Given the description of an element on the screen output the (x, y) to click on. 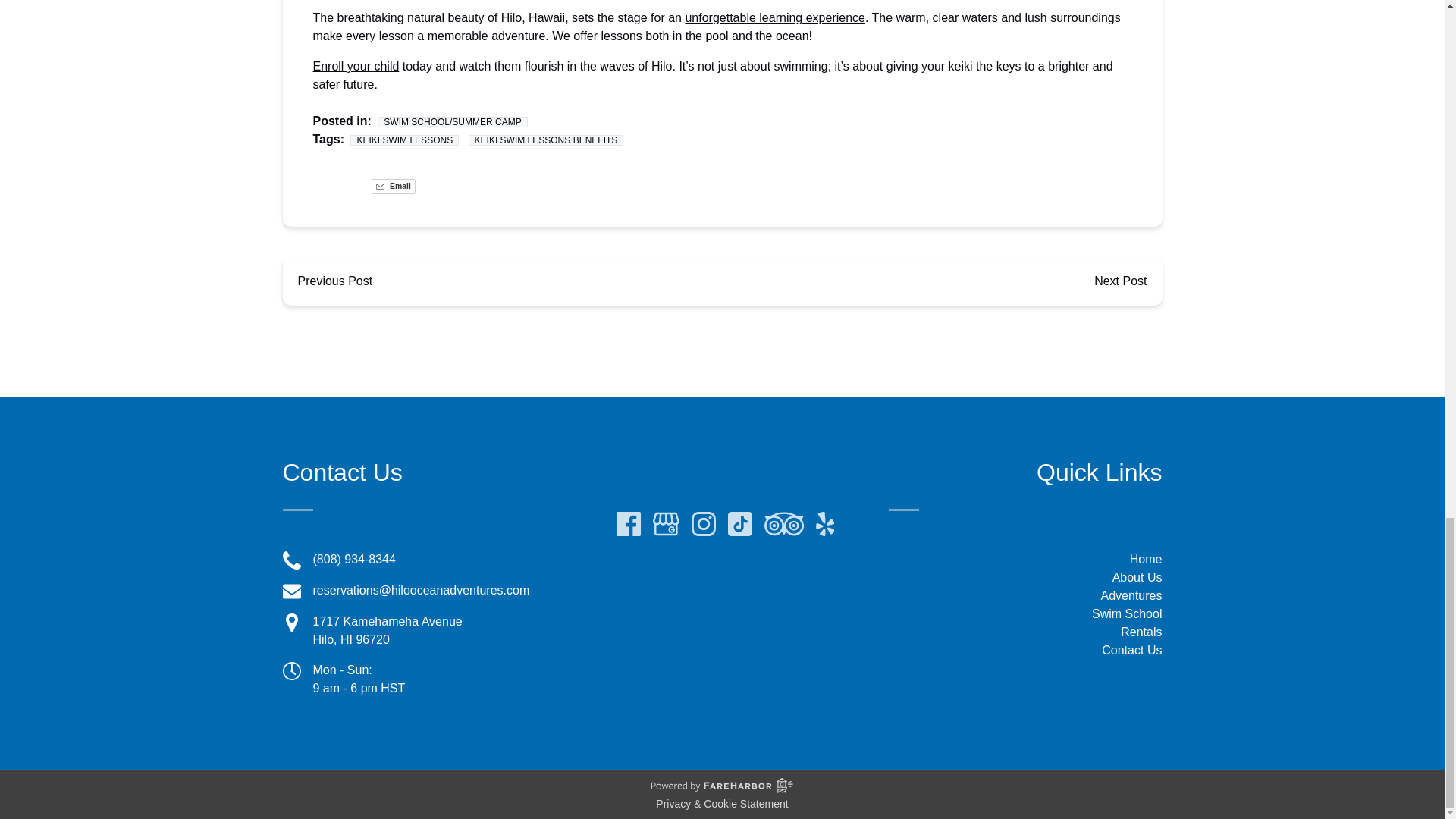
Map Marker (290, 622)
Phone (290, 560)
Envelope (290, 591)
Clock (290, 670)
